Given the description of an element on the screen output the (x, y) to click on. 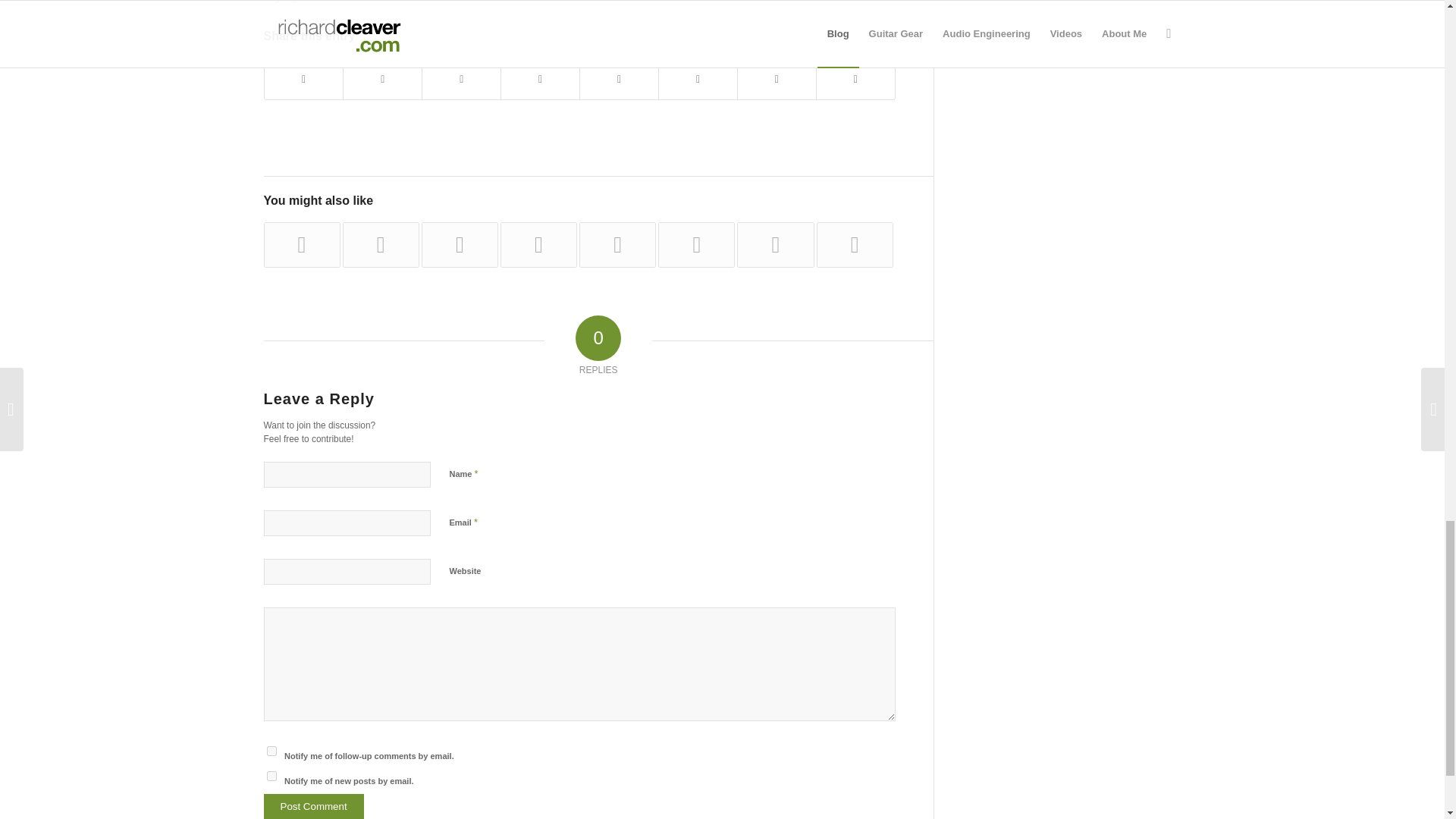
Progress (538, 244)
How Much Is Enough? (617, 244)
Post Comment (313, 806)
The Gathering (301, 244)
Another Day With A Mouse (459, 244)
Under Construction (380, 244)
general (307, 1)
Seafood Hazard (696, 244)
Post Comment (313, 806)
subscribe (271, 776)
subscribe (271, 750)
